Given the description of an element on the screen output the (x, y) to click on. 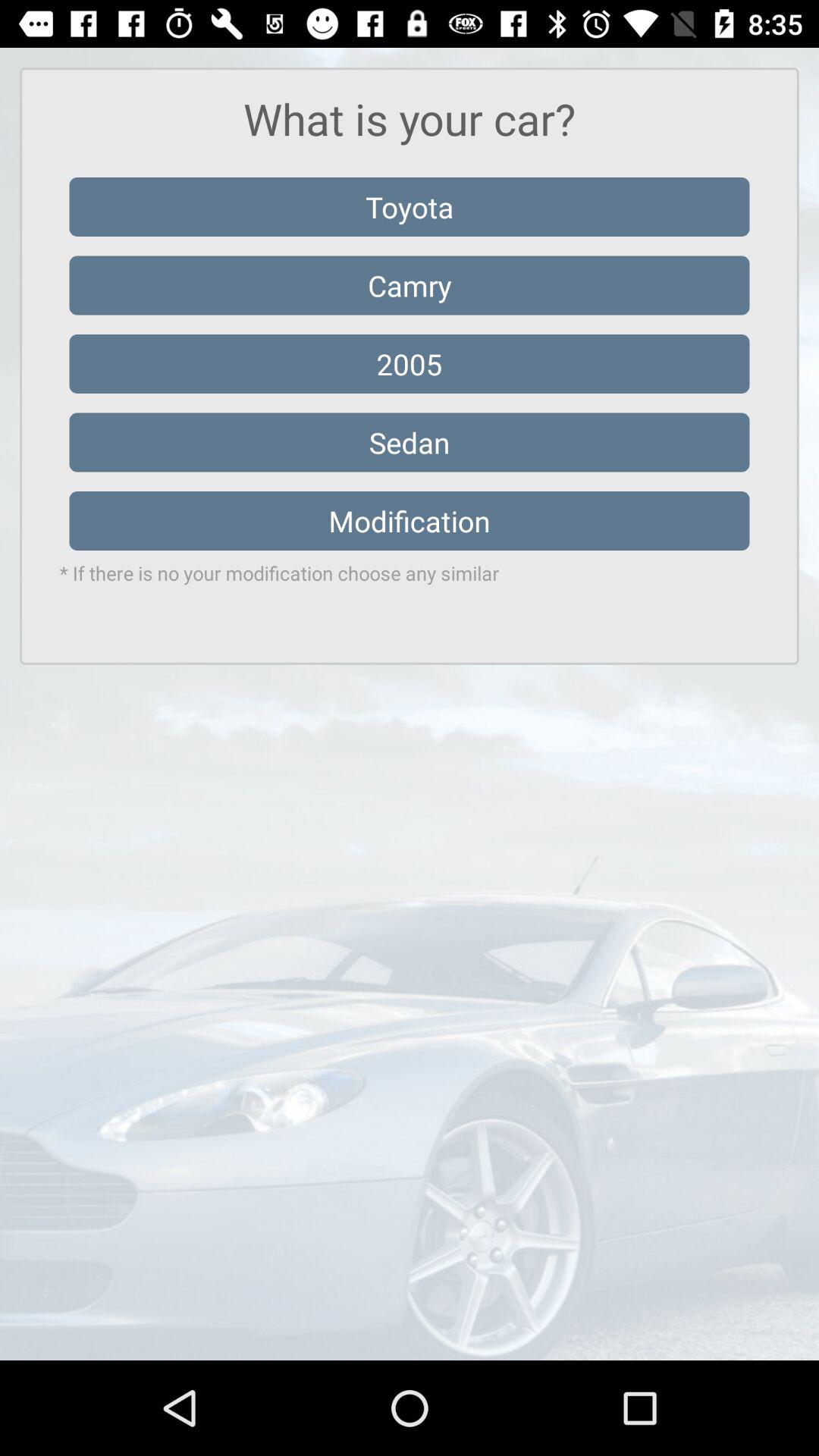
open icon below camry item (409, 363)
